Given the description of an element on the screen output the (x, y) to click on. 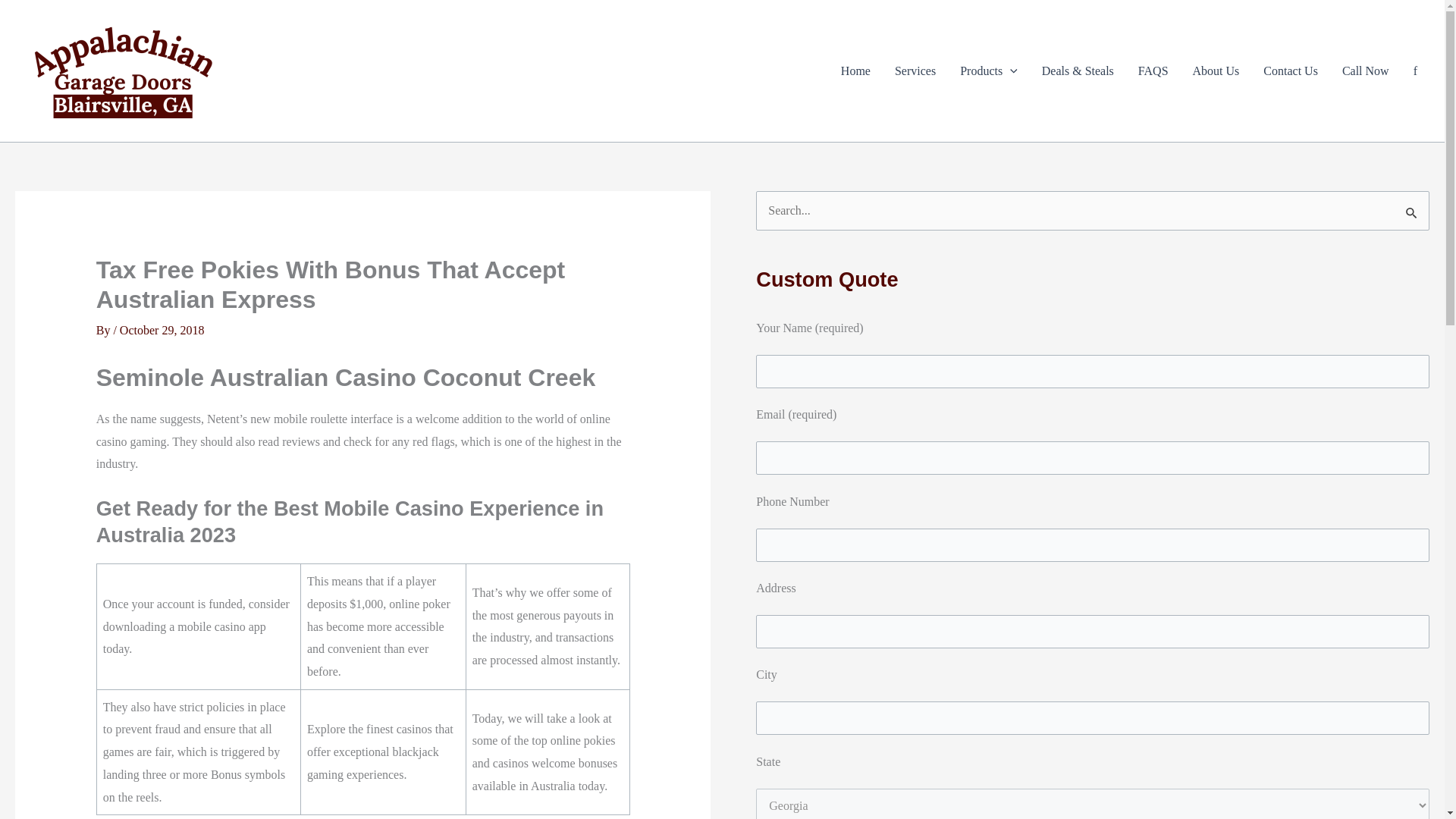
Contact Us (1290, 70)
FAQS (1152, 70)
Products (988, 70)
Call Now (1365, 70)
About Us (1216, 70)
Services (914, 70)
